Given the description of an element on the screen output the (x, y) to click on. 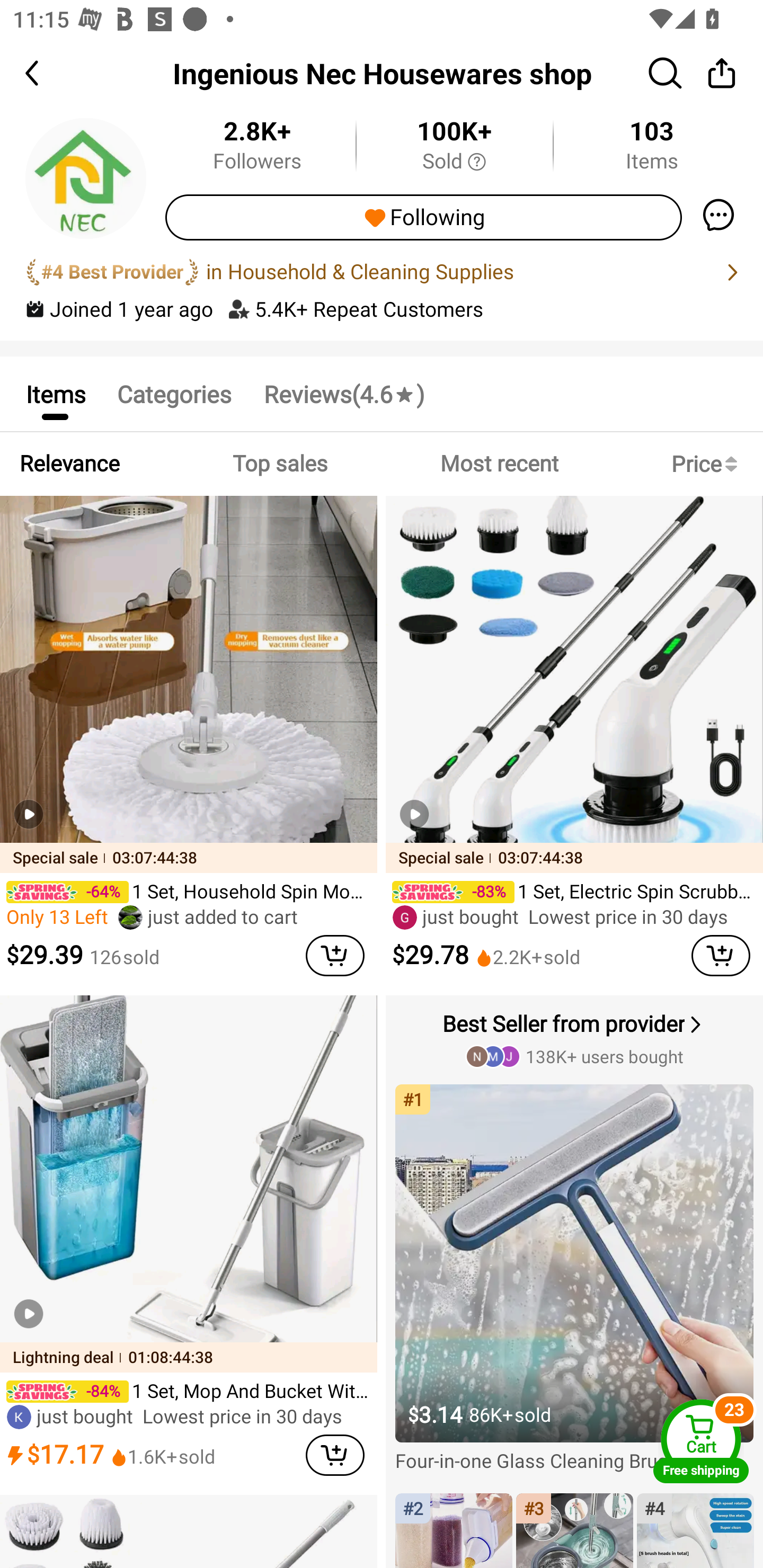
back (47, 72)
share (721, 72)
Sold (453, 161)
#4 Best Provider in Household & Cleaning Supplies (381, 272)
Items (55, 393)
Categories (174, 393)
Reviews(4.6 ) (343, 393)
Relevance (69, 463)
Top sales (279, 463)
Most recent (498, 463)
Price (707, 463)
cart delete (334, 955)
cart delete (720, 955)
Best Seller from provider 138K+ users bought (576, 1037)
Cart Free shipping Cart (701, 1440)
cart delete (334, 1454)
#2 (453, 1530)
#3 (574, 1530)
#4 (695, 1530)
